Given the description of an element on the screen output the (x, y) to click on. 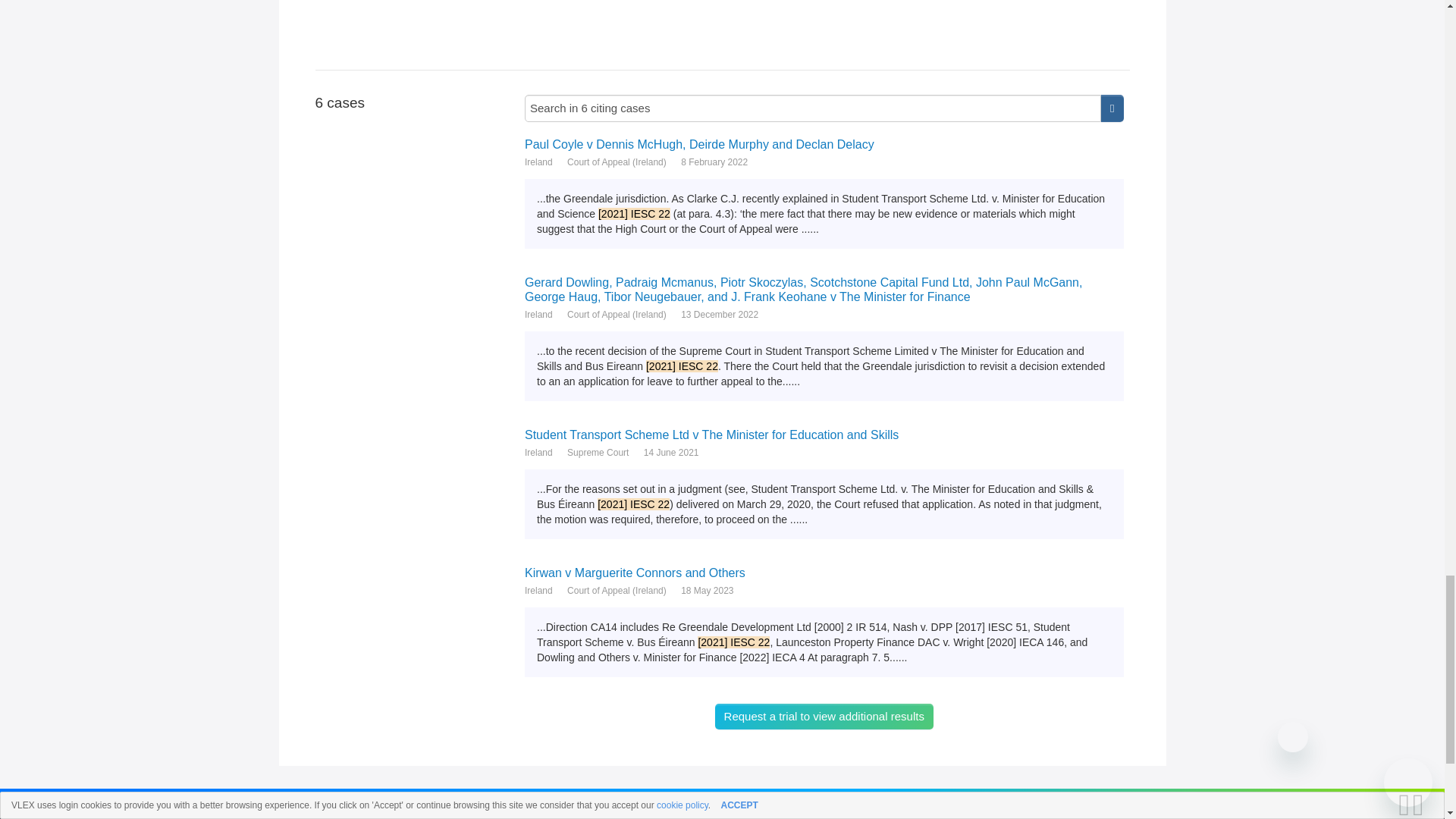
Kirwan v Marguerite Connors and Others (824, 572)
Supreme Court (597, 452)
vLex (313, 815)
Paul Coyle v Dennis McHugh, Deirde Murphy and Declan Delacy (824, 144)
Ireland (538, 452)
Kirwan v Marguerite Connors and Others (824, 572)
13 December 2022 (719, 314)
14 June 2021 (670, 452)
18 May 2023 (707, 590)
Ireland (538, 161)
Ireland (538, 590)
Ireland (538, 314)
Paul Coyle v Dennis McHugh, Deirde Murphy and Declan Delacy (824, 144)
